Given the description of an element on the screen output the (x, y) to click on. 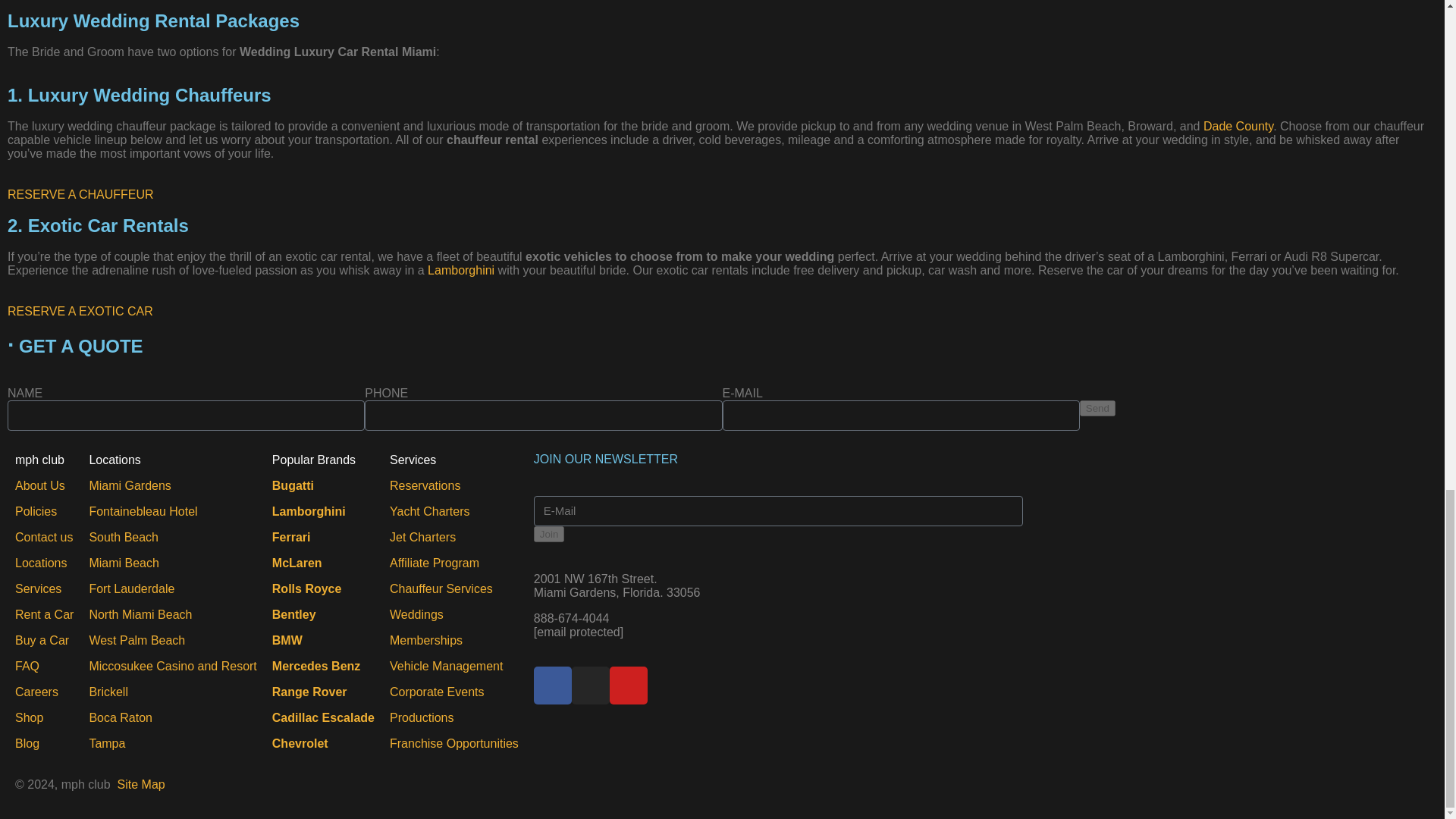
FAQ (26, 666)
Policies (35, 511)
Contact us (43, 536)
Services (37, 588)
RESERVE A CHAUFFEUR (80, 194)
About Us (39, 485)
RESERVE A EXOTIC CAR (79, 310)
Lamborghini (461, 269)
Buy a Car (41, 640)
Locations (40, 562)
